Given the description of an element on the screen output the (x, y) to click on. 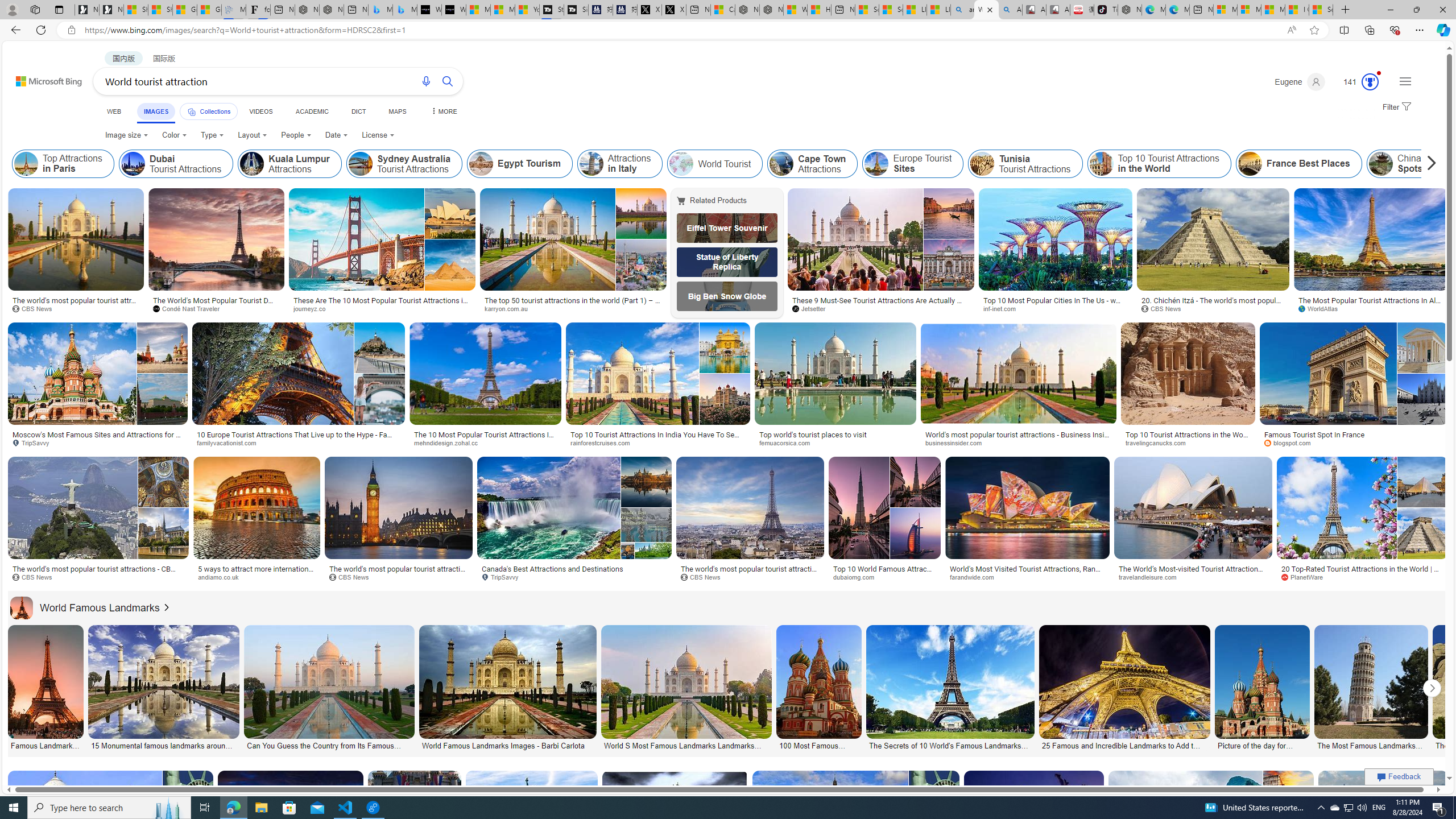
VIDEOS (260, 111)
andiamo.co.uk (222, 576)
World Tourist (715, 163)
travelingcanucks.com (1159, 442)
femuacorsica.com (788, 442)
DICT (357, 111)
World's most popular tourist attractions - Business Insider (1018, 438)
journeyz.co (313, 308)
Microsoft Bing Travel - Shangri-La Hotel Bangkok (404, 9)
